Given the description of an element on the screen output the (x, y) to click on. 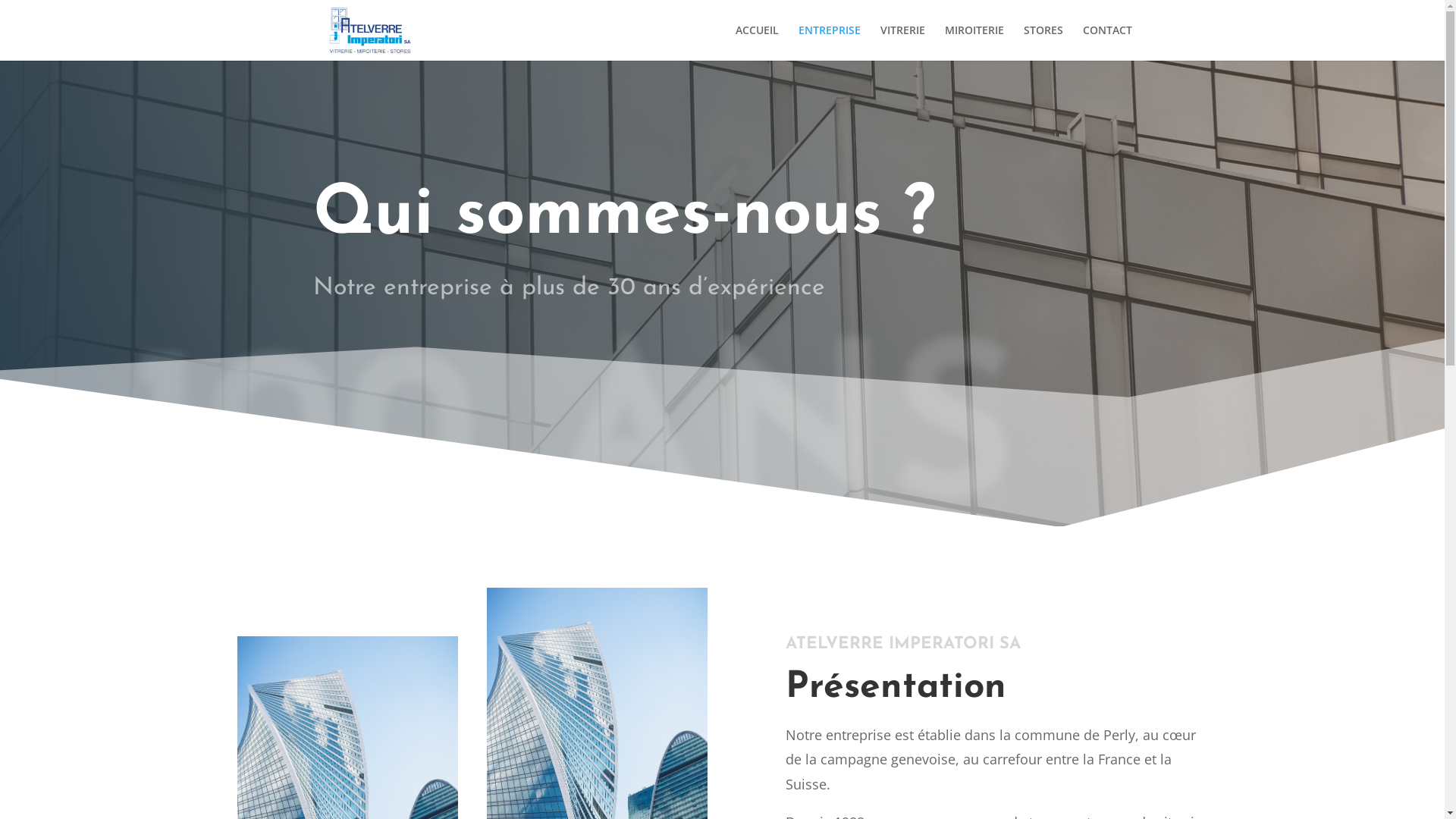
ENTREPRISE Element type: text (828, 42)
ACCUEIL Element type: text (756, 42)
VITRERIE Element type: text (901, 42)
MIROITERIE Element type: text (974, 42)
STORES Element type: text (1043, 42)
CONTACT Element type: text (1107, 42)
